Given the description of an element on the screen output the (x, y) to click on. 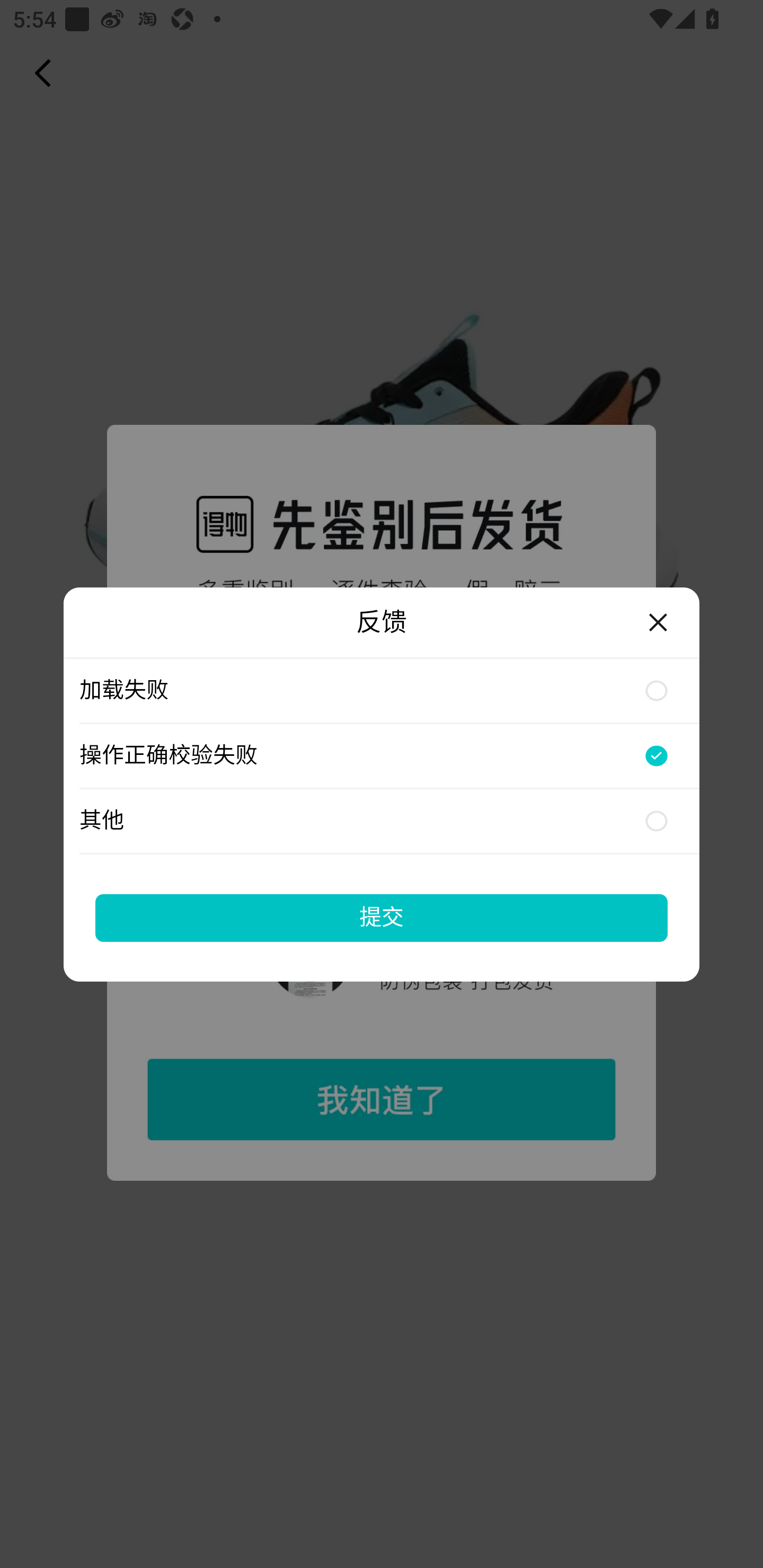
提交 (381, 917)
